Given the description of an element on the screen output the (x, y) to click on. 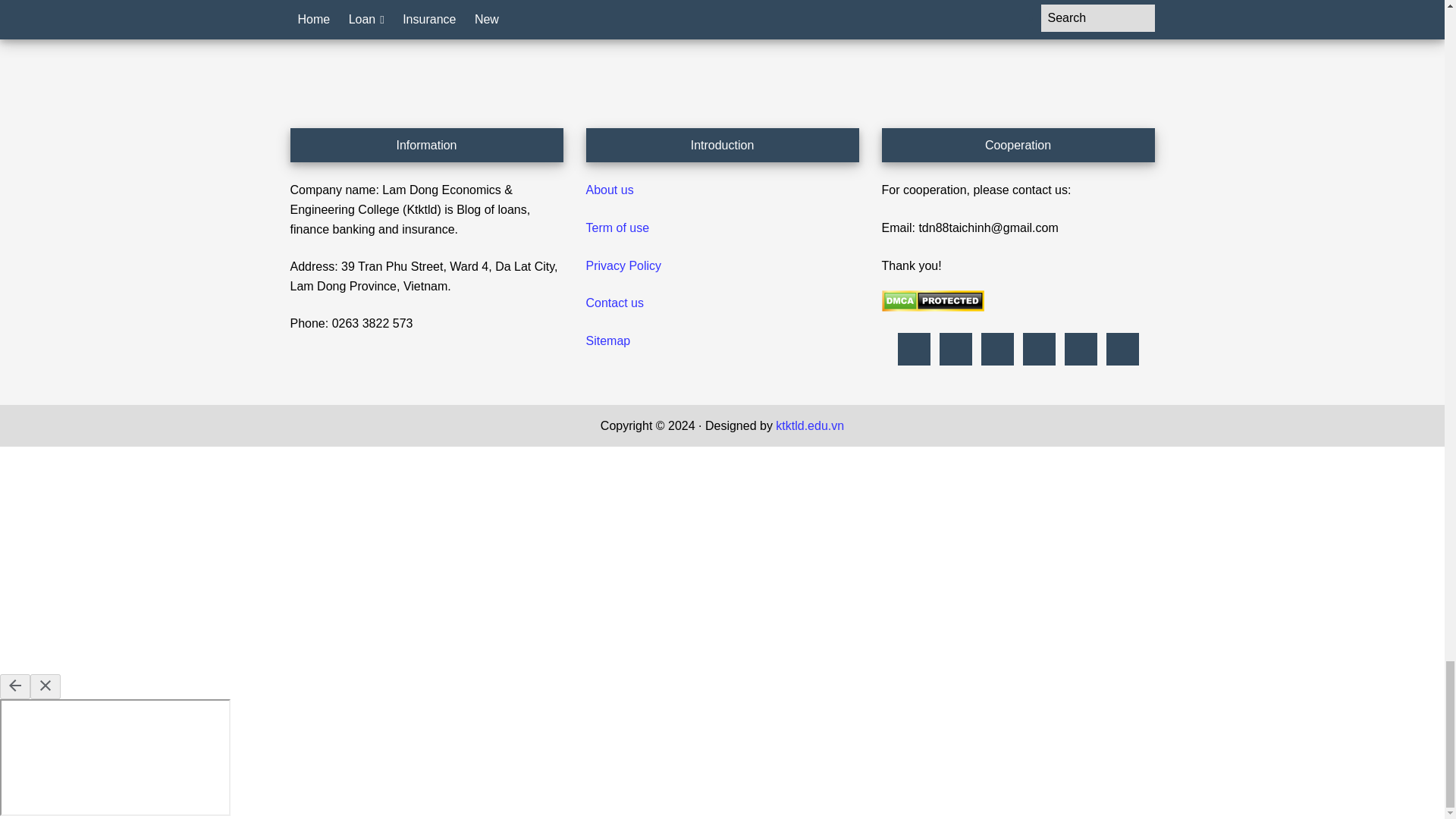
Flickr (913, 349)
Reddit (996, 349)
Tumblr (1038, 349)
YouTube (1123, 349)
Twitter (1079, 349)
Pinterest (955, 349)
DMCA.com Protection Status (932, 307)
